Given the description of an element on the screen output the (x, y) to click on. 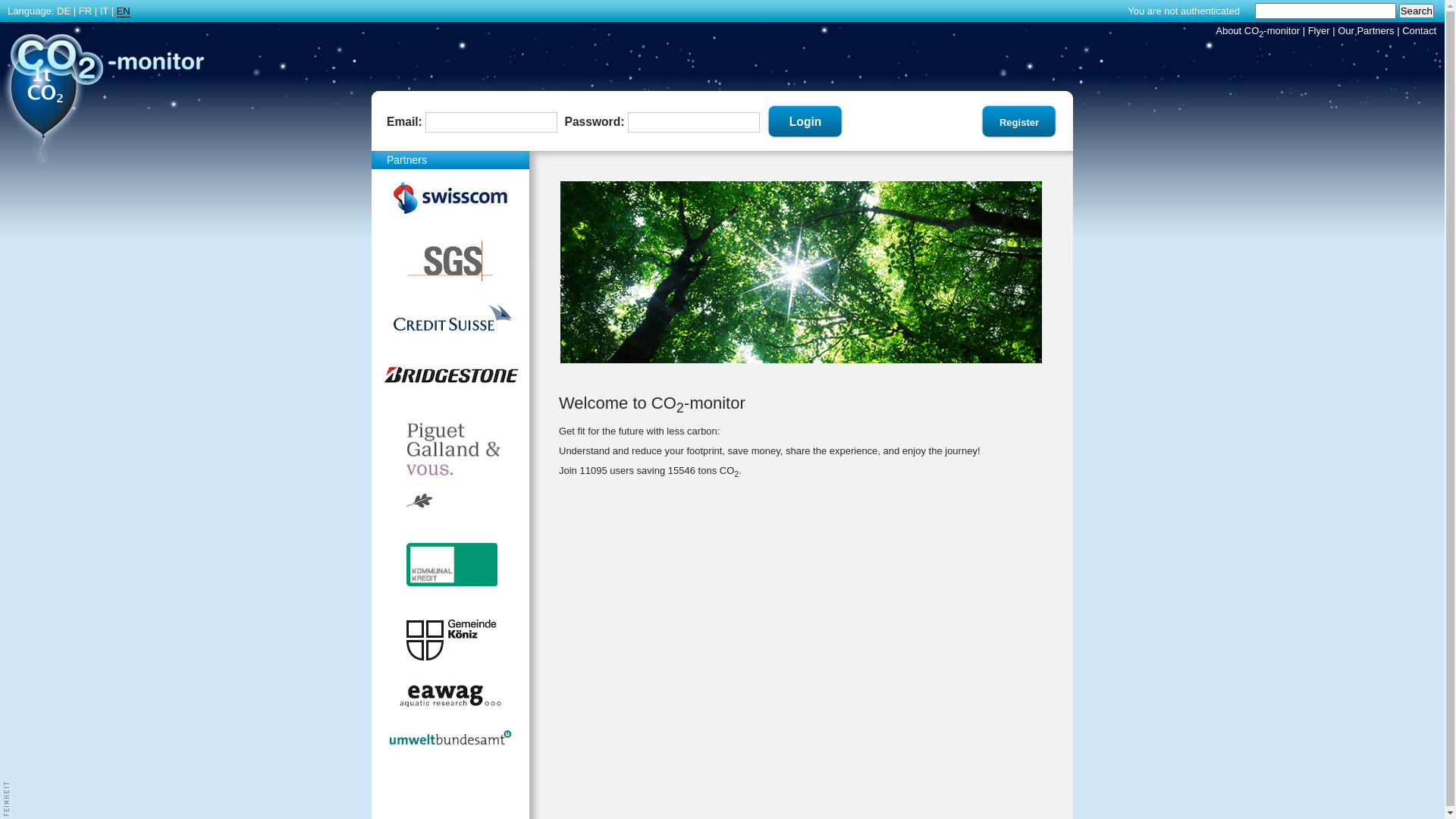
Our Partners Element type: text (1365, 30)
Register Element type: text (1018, 121)
IT Element type: text (104, 10)
Search Element type: text (1416, 10)
Contact Element type: text (1419, 30)
About CO2-monitor Element type: text (1257, 30)
EN Element type: text (123, 11)
FR Element type: text (84, 10)
Flyer Element type: text (1319, 30)
DE Element type: text (63, 10)
Login Element type: text (805, 121)
